Given the description of an element on the screen output the (x, y) to click on. 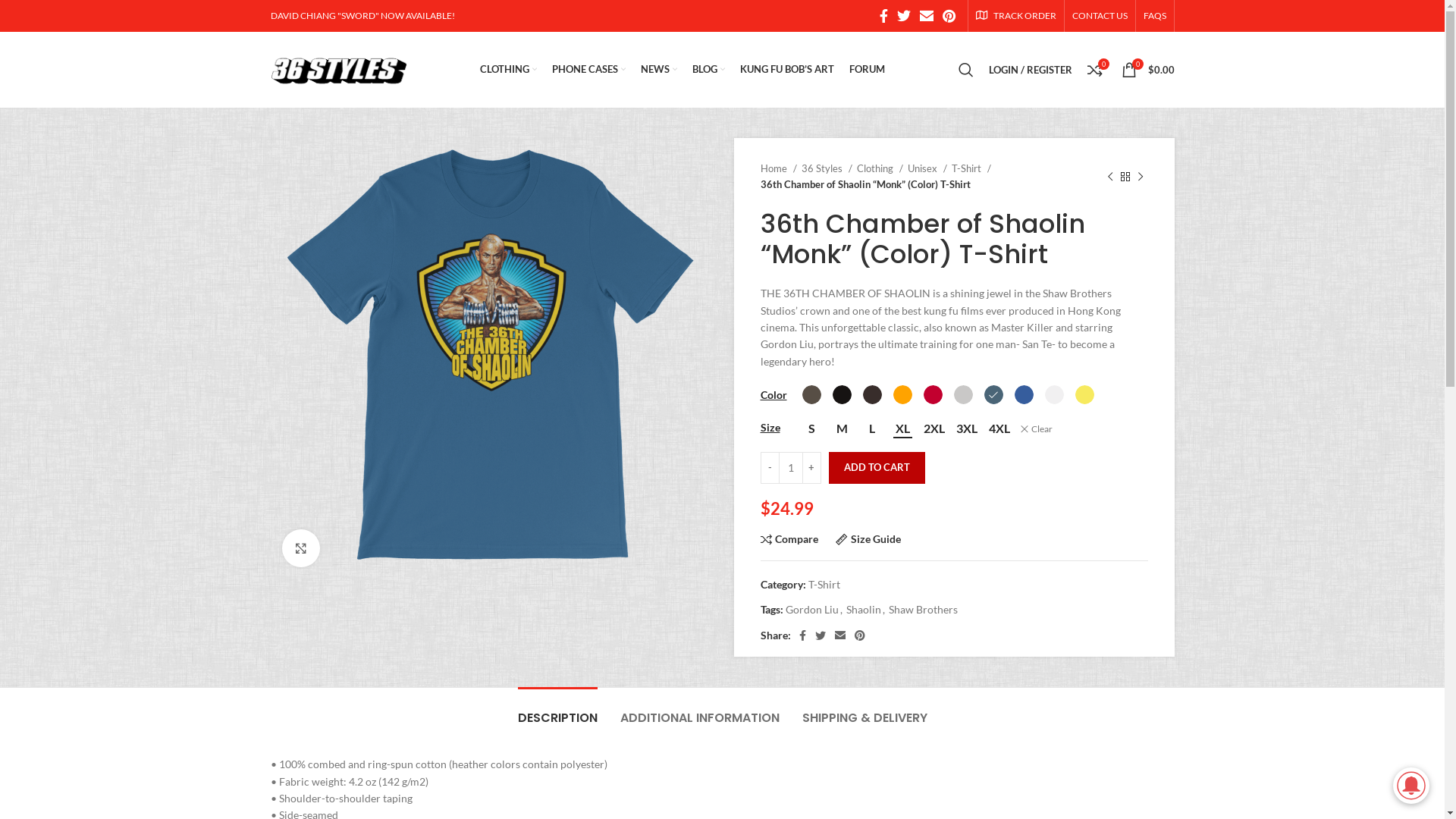
Unisex Element type: text (926, 168)
BLOG Element type: text (708, 69)
CONTACT US Element type: text (1099, 15)
Shaw Brothers Element type: text (922, 608)
mockup-dc92fbd9.png Element type: hover (490, 356)
Gordon Liu Element type: text (811, 608)
Size Guide Element type: text (867, 539)
Compare Element type: text (788, 539)
SHIPPING & DELIVERY Element type: text (864, 710)
ADD TO CART Element type: text (876, 467)
0
$0.00 Element type: text (1147, 69)
LOGIN / REGISTER Element type: text (1030, 69)
FORUM Element type: text (866, 69)
DAVID CHIANG "SWORD" NOW AVAILABLE! Element type: text (361, 15)
DESCRIPTION Element type: text (556, 710)
Clothing Element type: text (879, 168)
ADDITIONAL INFORMATION Element type: text (699, 710)
T-Shirt Element type: text (970, 168)
Search Element type: hover (965, 69)
CLOTHING Element type: text (508, 69)
NEWS Element type: text (658, 69)
Shaolin Element type: text (863, 608)
TRACK ORDER Element type: text (1015, 15)
0 Element type: text (1094, 69)
Home Element type: text (777, 168)
T-Shirt Element type: text (824, 583)
PHONE CASES Element type: text (588, 69)
Clear Element type: text (1035, 429)
36 Styles Element type: text (825, 168)
FAQS Element type: text (1154, 15)
